Given the description of an element on the screen output the (x, y) to click on. 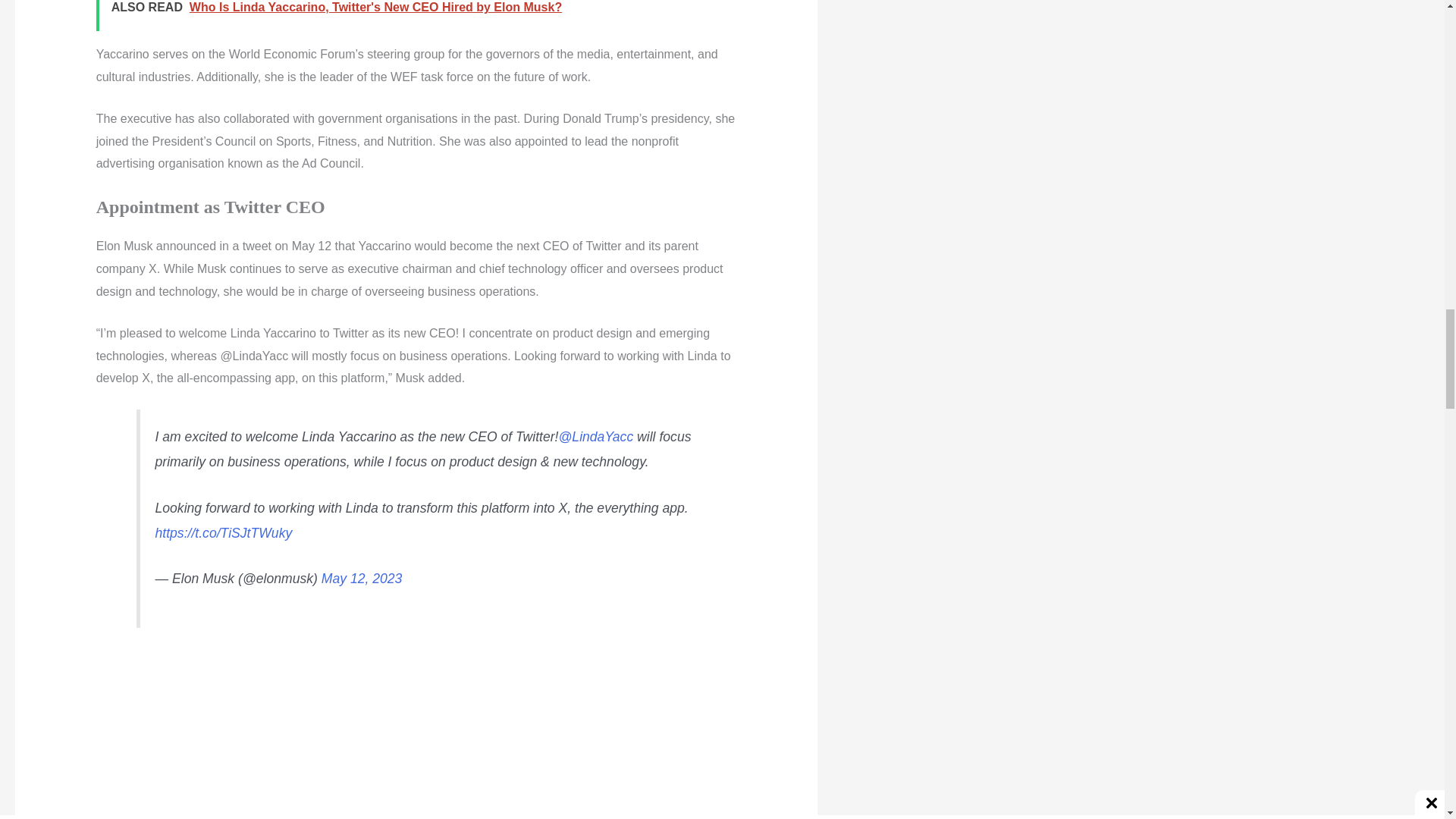
May 12, 2023 (362, 578)
